Given the description of an element on the screen output the (x, y) to click on. 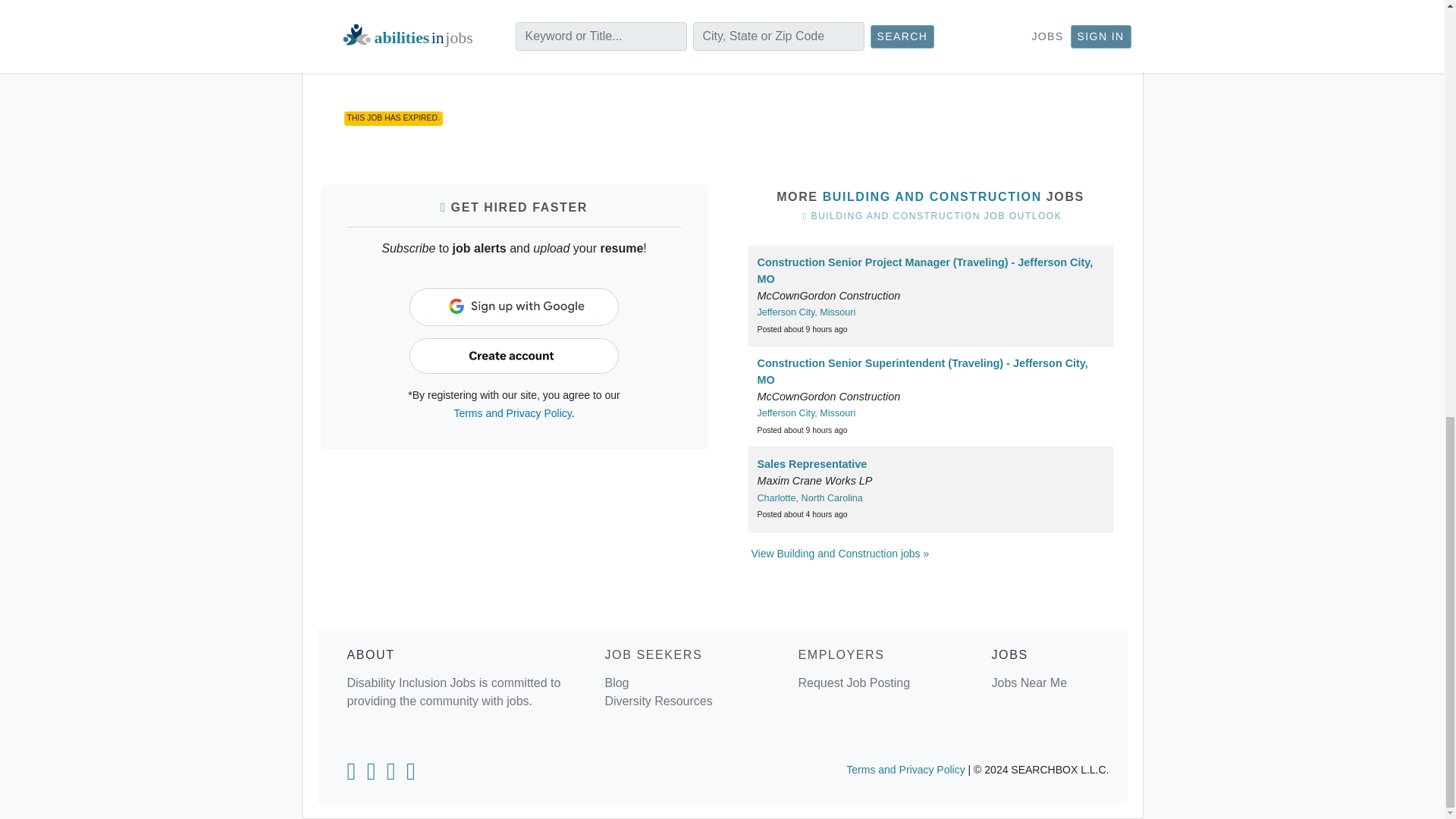
Blog (616, 682)
ABOUT (370, 654)
Jefferson City, Missouri (806, 412)
Diversity Resources (657, 700)
Link to LinkedIn (350, 775)
Jefferson City, Missouri (806, 312)
Link to Facebook (371, 775)
Terms and Privacy Policy (511, 413)
Charlotte, North Carolina (809, 498)
